Given the description of an element on the screen output the (x, y) to click on. 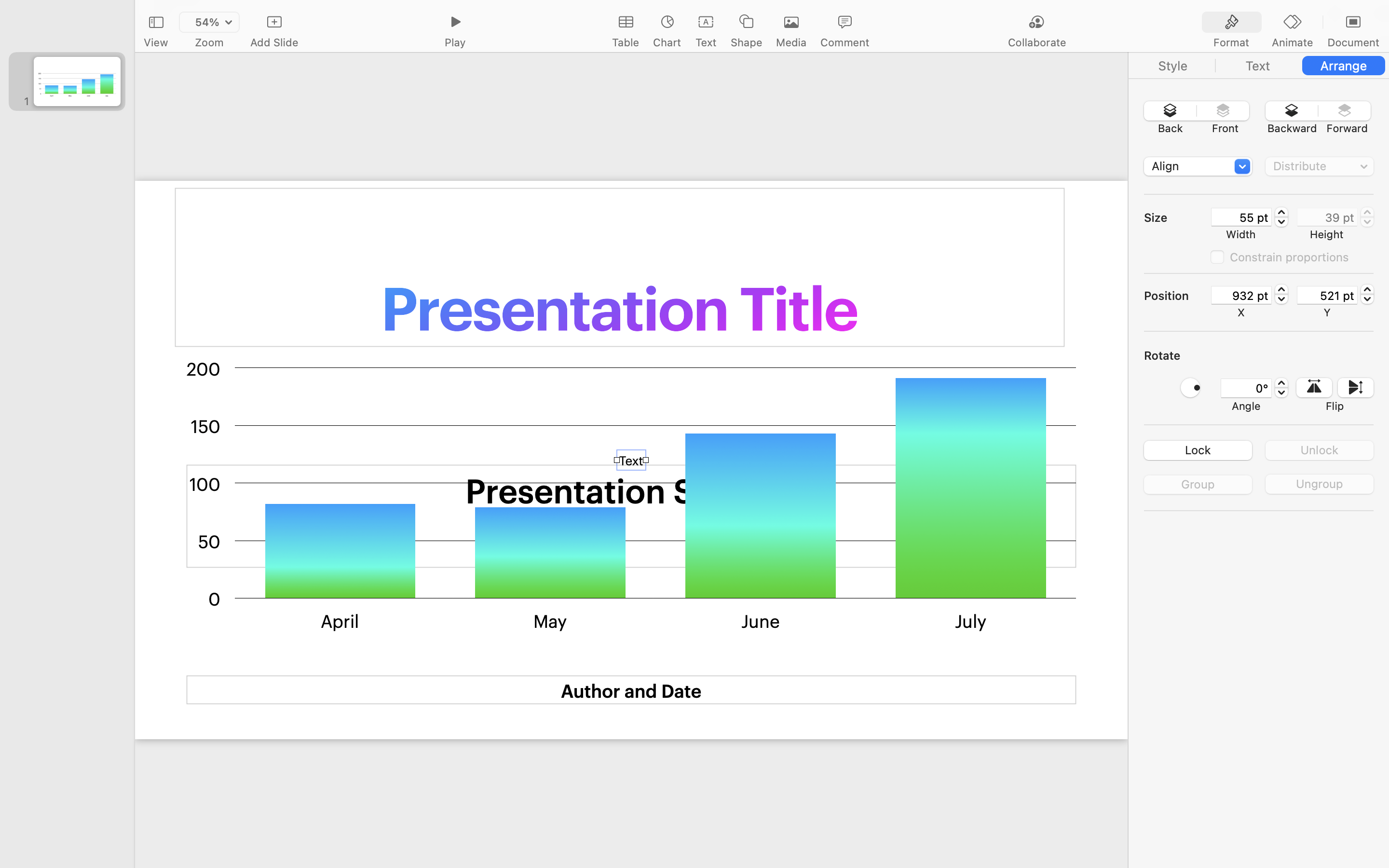
Position Element type: AXStaticText (1176, 295)
0° Element type: AXTextField (1246, 388)
932 pt Element type: AXTextField (1241, 294)
View Element type: AXStaticText (155, 42)
